Given the description of an element on the screen output the (x, y) to click on. 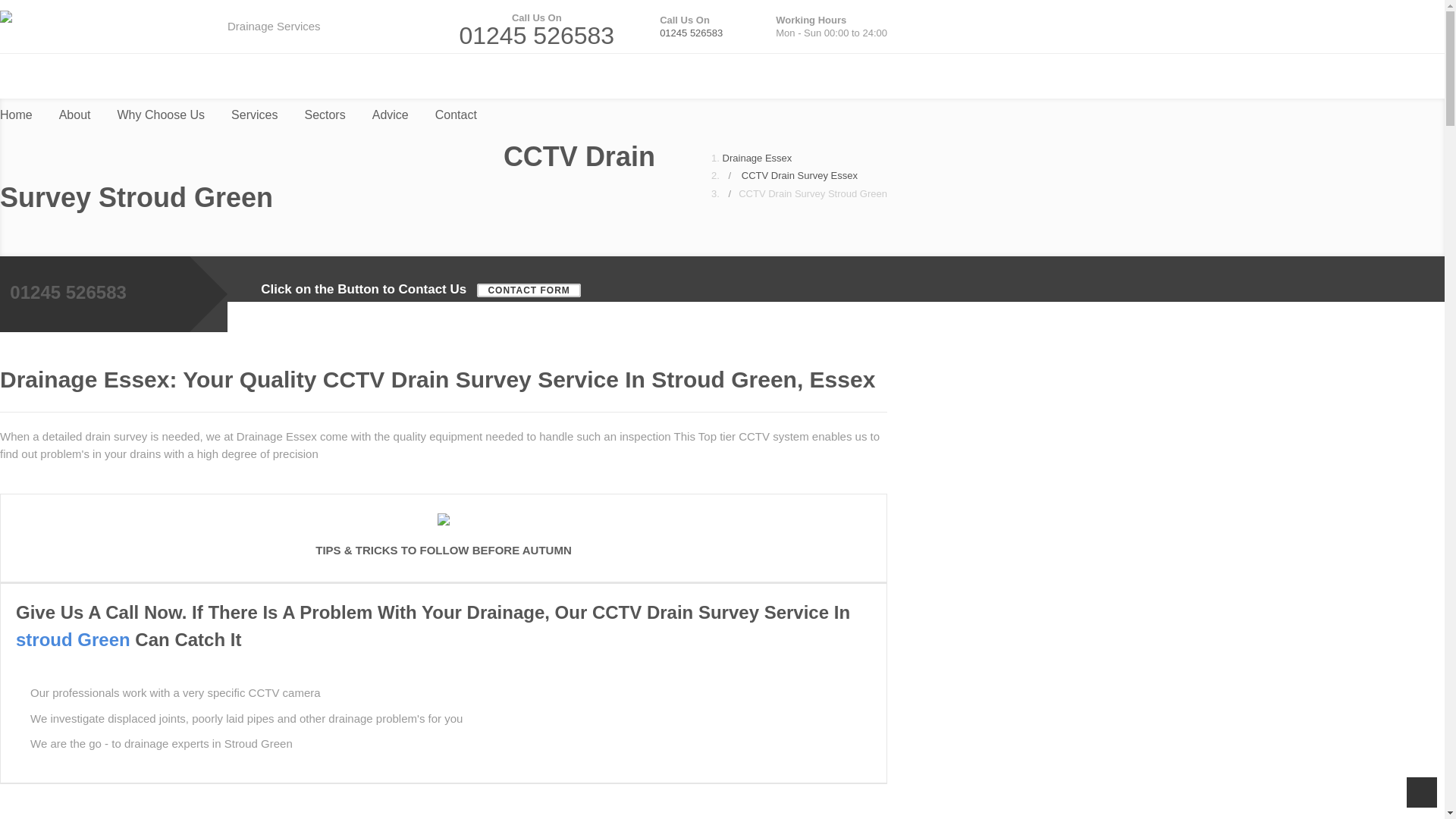
BOOK A SERVICE (300, 62)
Sectors (324, 115)
01245 526583 (690, 32)
Why Choose Us (160, 115)
Services (254, 115)
Drainage Essex (106, 18)
01245 526583 (106, 18)
